Given the description of an element on the screen output the (x, y) to click on. 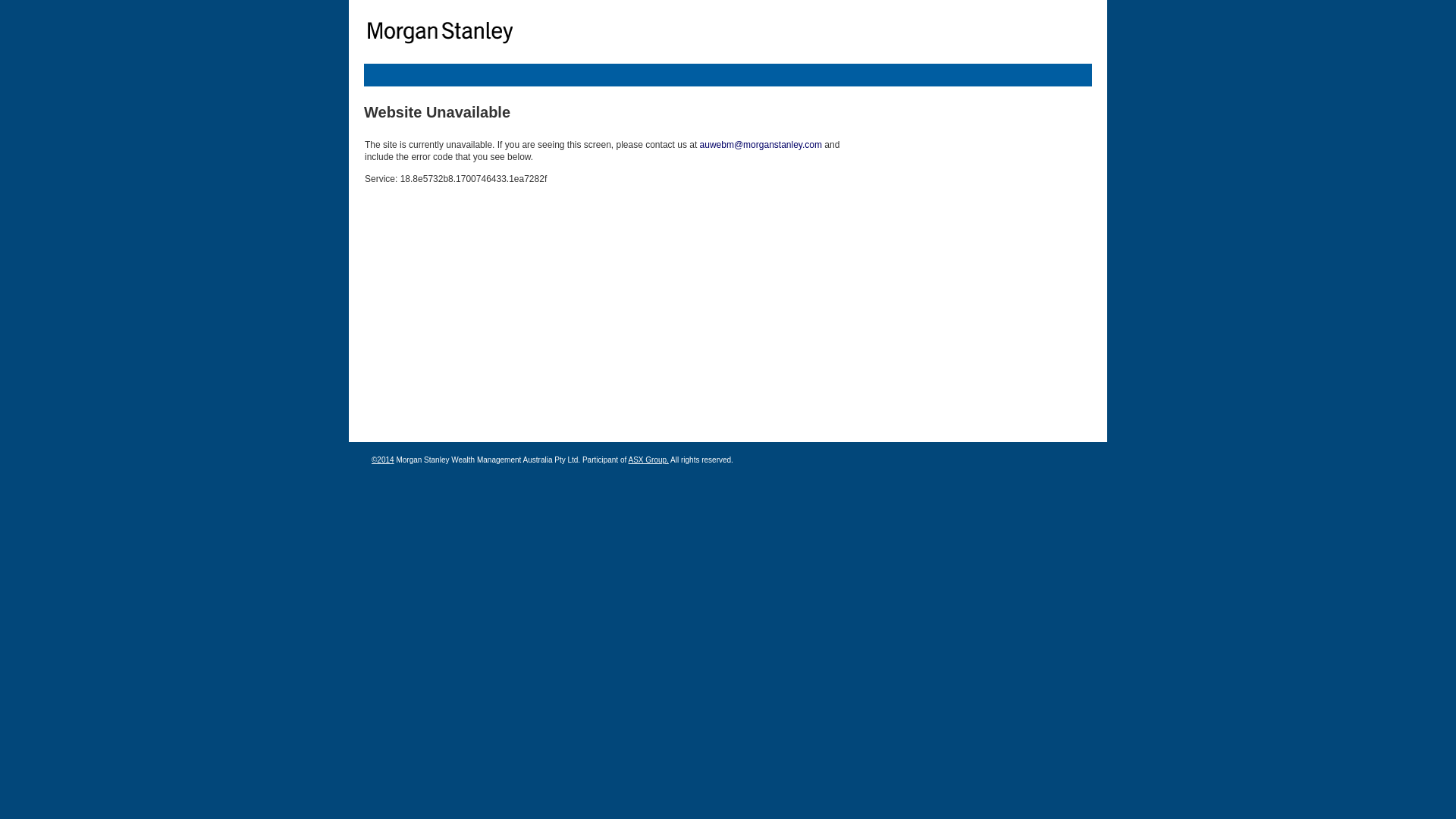
ASX Group. Element type: text (647, 459)
auwebm@morganstanley.com Element type: text (760, 144)
